Given the description of an element on the screen output the (x, y) to click on. 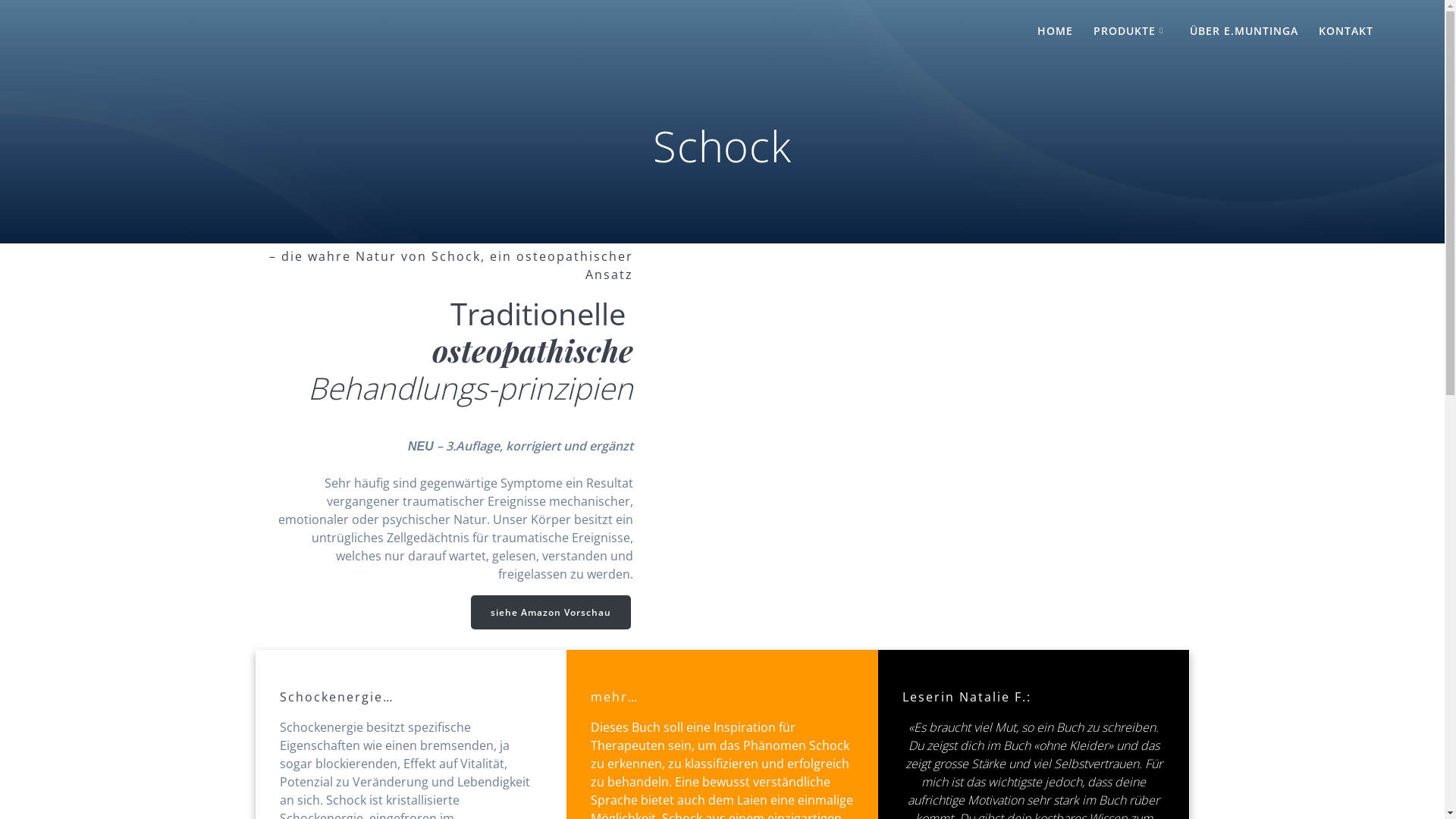
HOME Element type: text (1055, 31)
PRODUKTE Element type: text (1131, 31)
siehe Amazon Vorschau Element type: text (550, 612)
KONTAKT Element type: text (1345, 31)
